Given the description of an element on the screen output the (x, y) to click on. 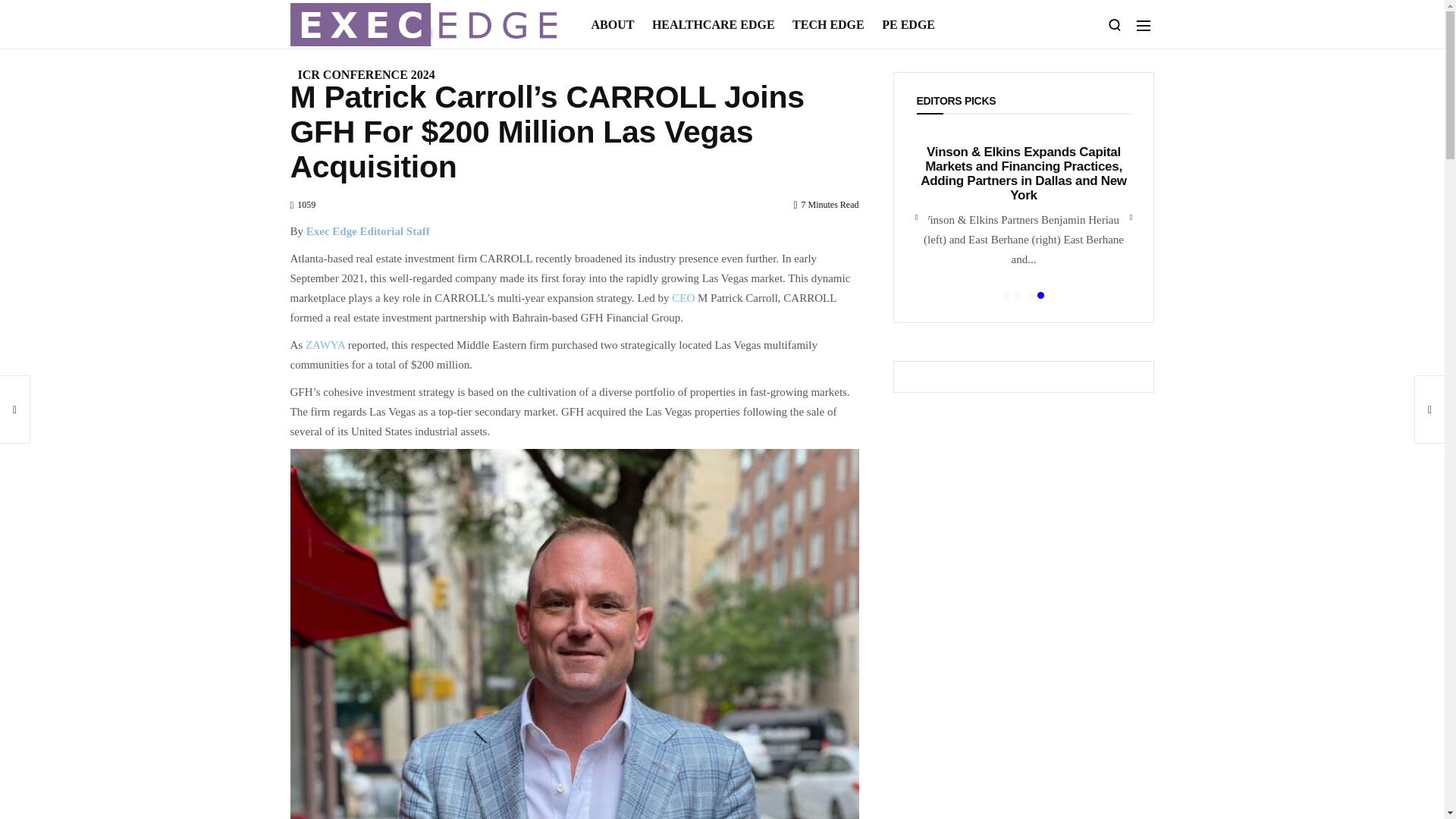
CEO (682, 297)
Exec Edge Editorial Staff (367, 231)
ICR CONFERENCE 2024 (365, 74)
PE EDGE (908, 24)
TECH EDGE (828, 24)
ABOUT (616, 24)
ZAWYA (325, 345)
HEALTHCARE EDGE (714, 24)
